Given the description of an element on the screen output the (x, y) to click on. 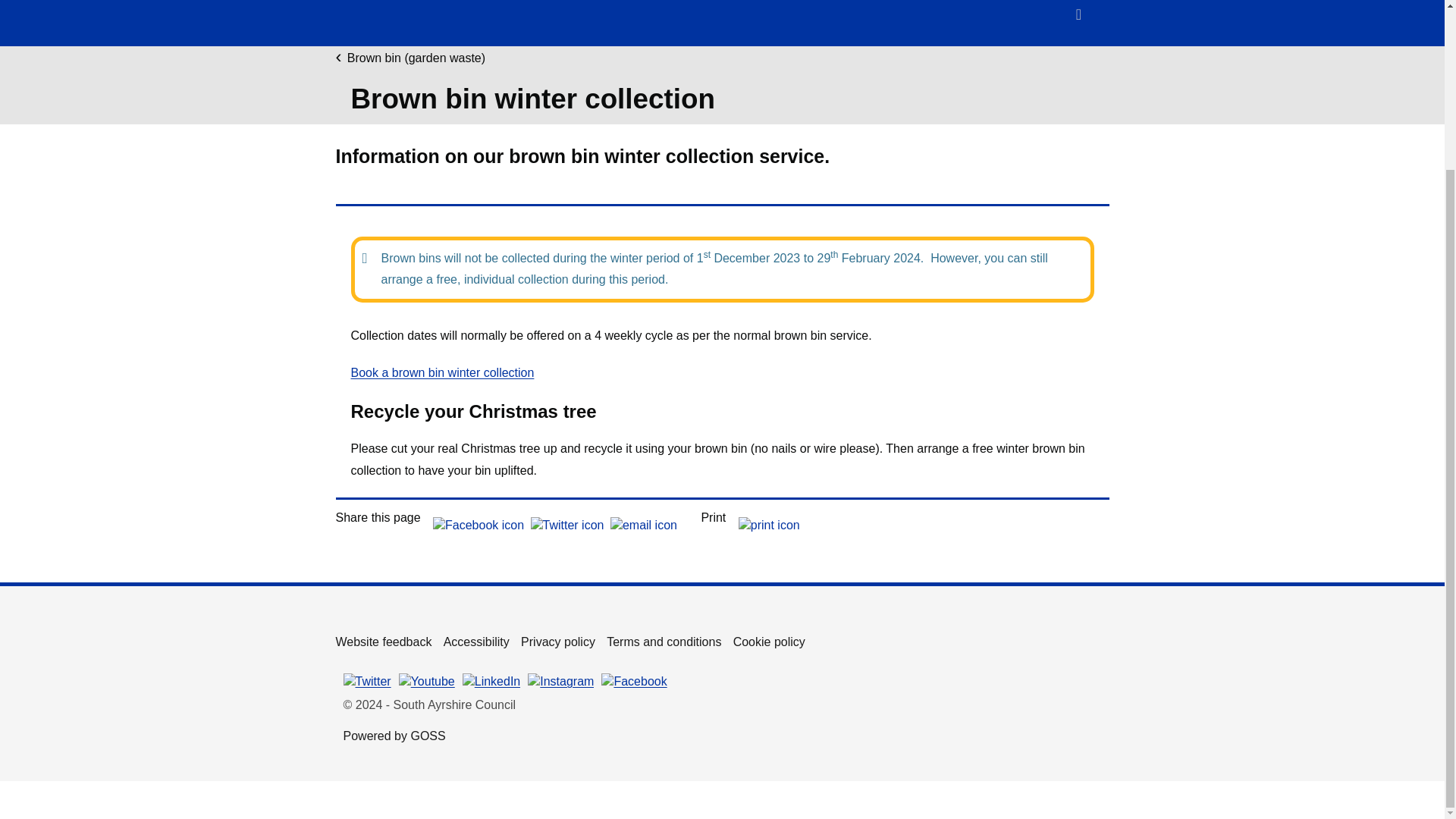
South Ayrshire Council on LinkedIn (492, 680)
South Ayrshire Council on Facebook (633, 680)
South Ayrshire Council on Twitter (366, 680)
South Ayrshire Council on Youtube (426, 680)
South Ayrshire Council on Instagram (383, 19)
